Given the description of an element on the screen output the (x, y) to click on. 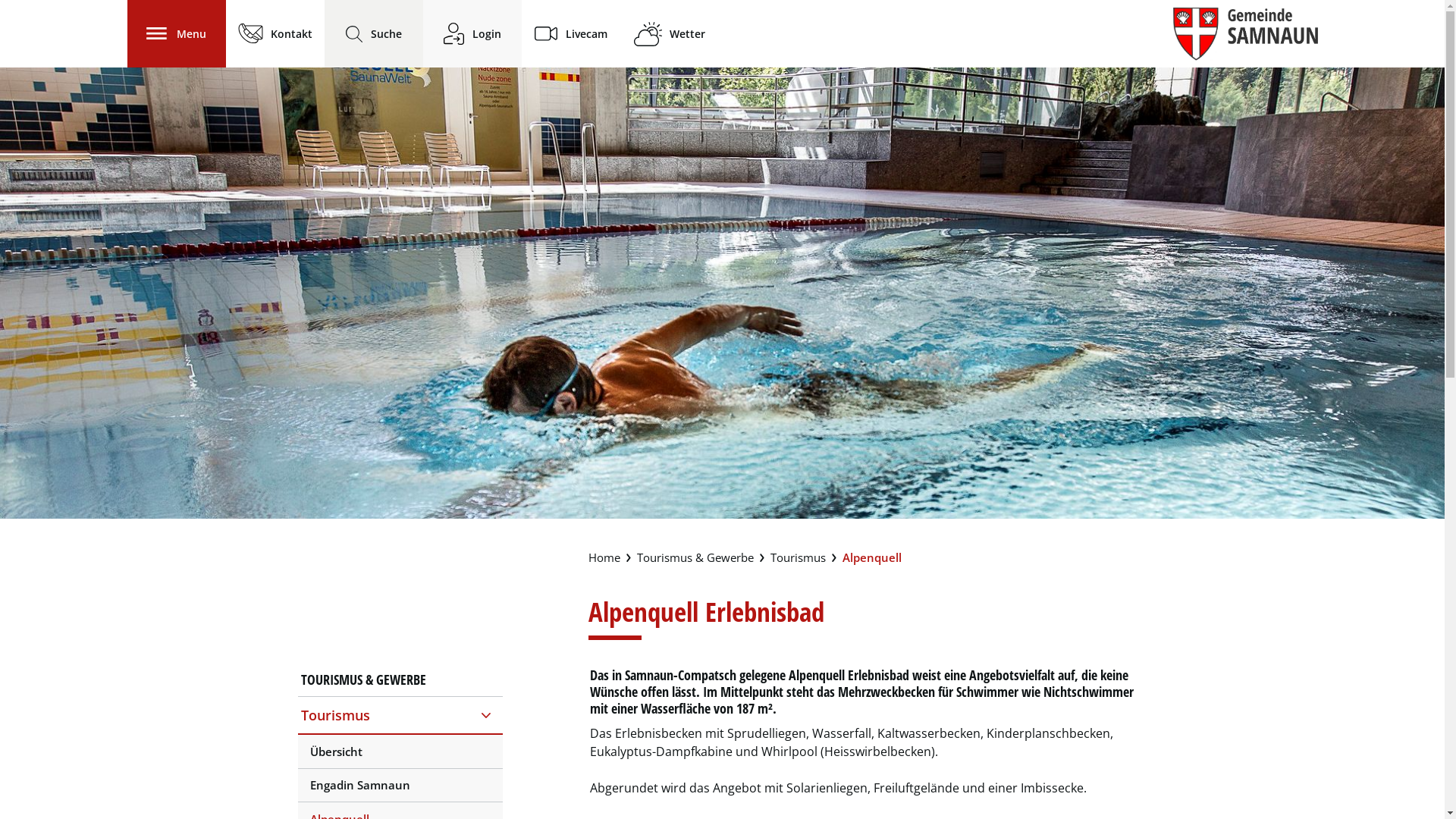
Tourismus Element type: text (797, 557)
Livecam Element type: text (570, 33)
Wetter Element type: text (669, 34)
Tourismus & Gewerbe Element type: text (695, 557)
Menu Element type: text (176, 33)
Login Element type: text (471, 33)
Gemeinde Samnaun Element type: text (1245, 33)
Engadin Samnaun Element type: text (399, 785)
Suche Element type: text (373, 33)
Go to Home Element type: hover (604, 557)
Kontakt Element type: text (275, 33)
Tourismus Element type: text (399, 714)
